Given the description of an element on the screen output the (x, y) to click on. 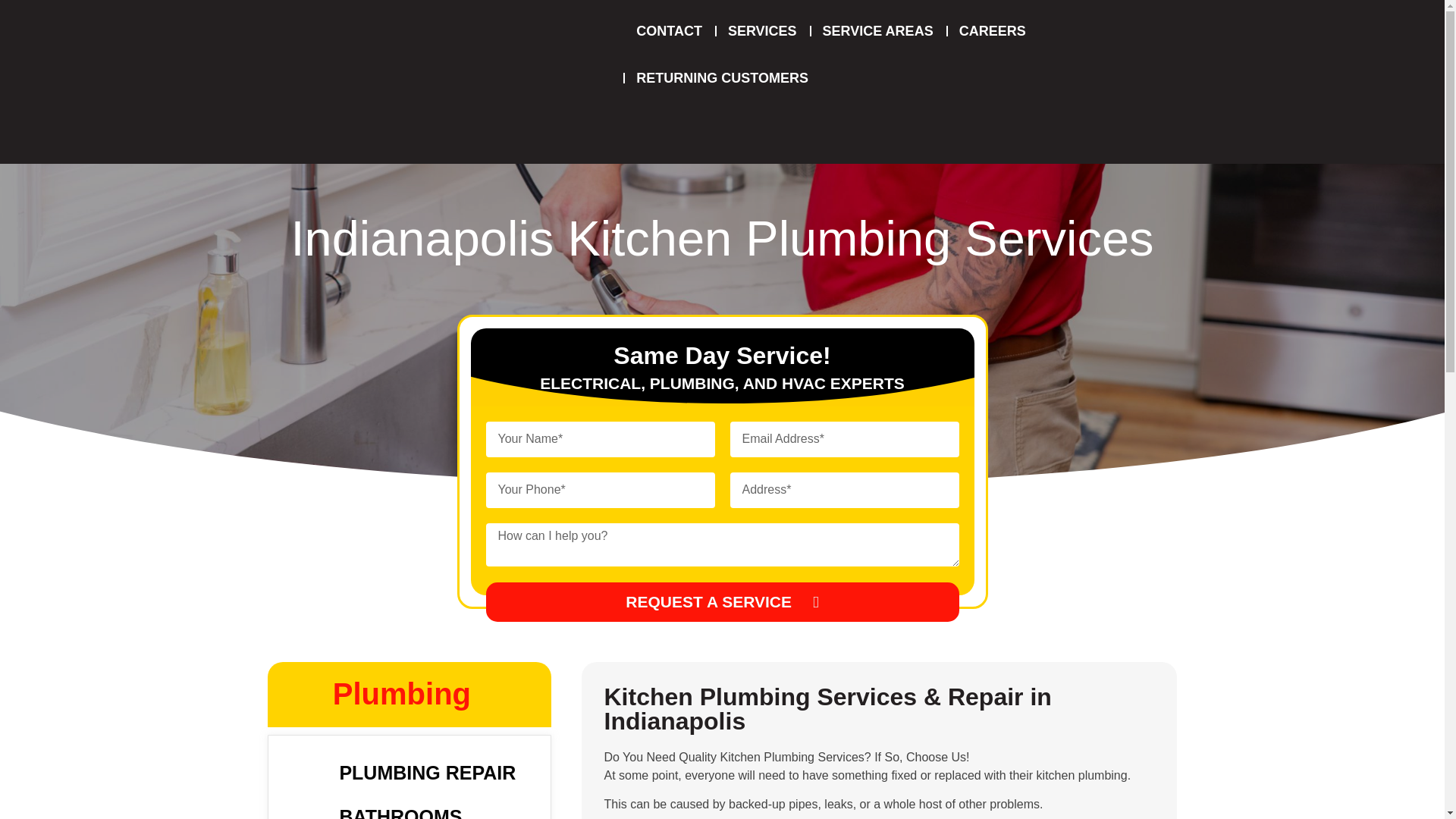
SERVICE AREAS (877, 31)
CONTACT (668, 31)
SERVICES (762, 31)
RETURNING CUSTOMERS (721, 77)
CAREERS (991, 31)
